Given the description of an element on the screen output the (x, y) to click on. 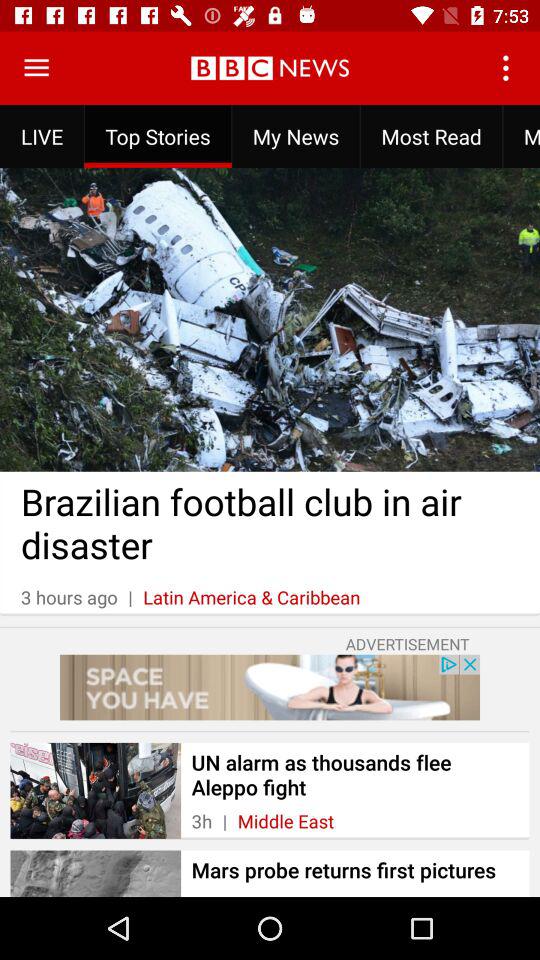
open the menu (36, 68)
